Given the description of an element on the screen output the (x, y) to click on. 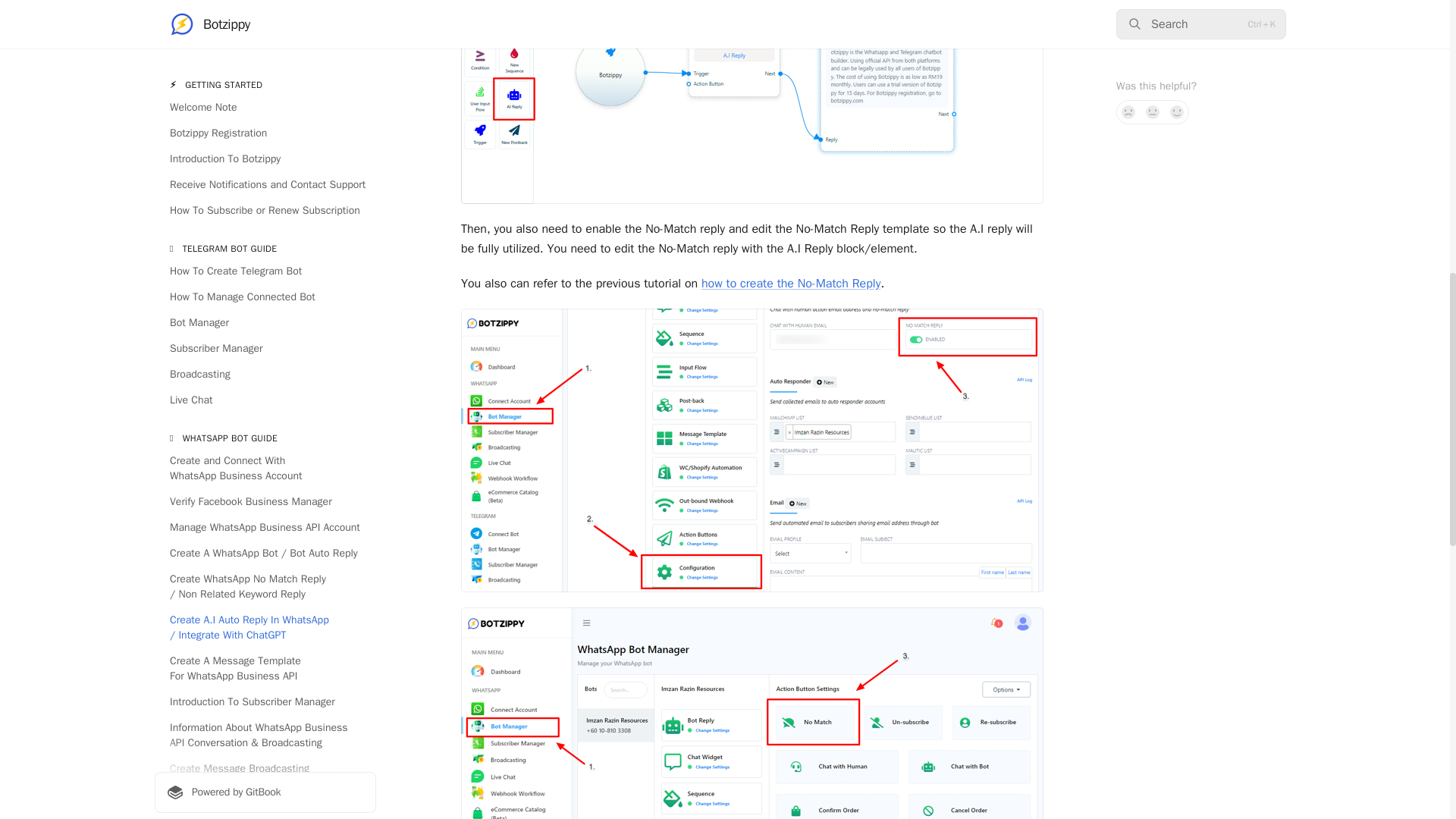
Auto Responder Integration (264, 271)
Email Integration (264, 219)
Telegram Ecommerce (264, 159)
SMS Integration (264, 245)
Team Management (264, 297)
Create A WhatsApp Ecommerce Catalog (264, 98)
how to create the No-Match Reply (790, 283)
Live Chat (264, 31)
